Given the description of an element on the screen output the (x, y) to click on. 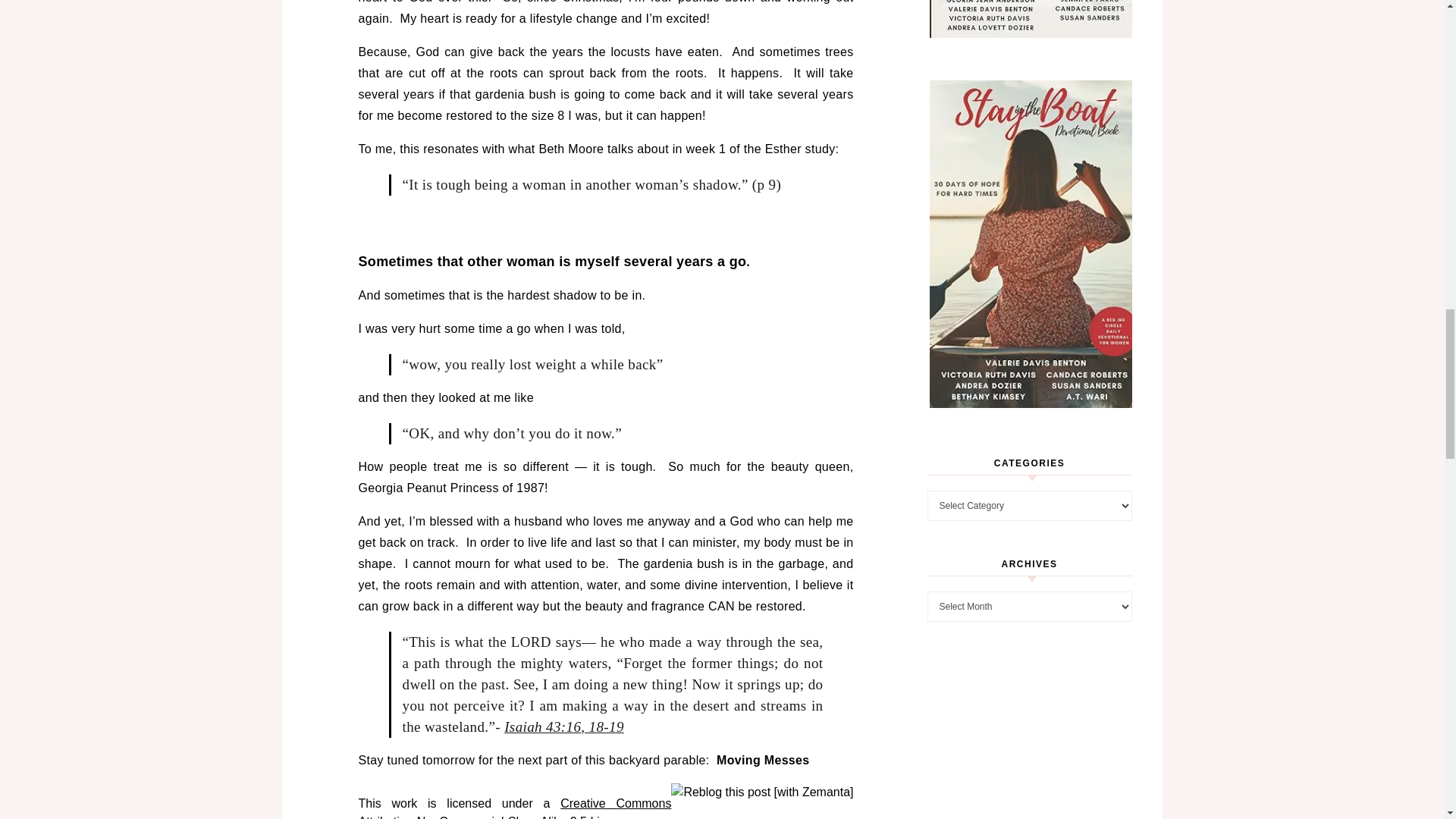
Isaiah 43:16, 18-19 (563, 726)
Isaiah 43:16, 18-19 (563, 726)
